Given the description of an element on the screen output the (x, y) to click on. 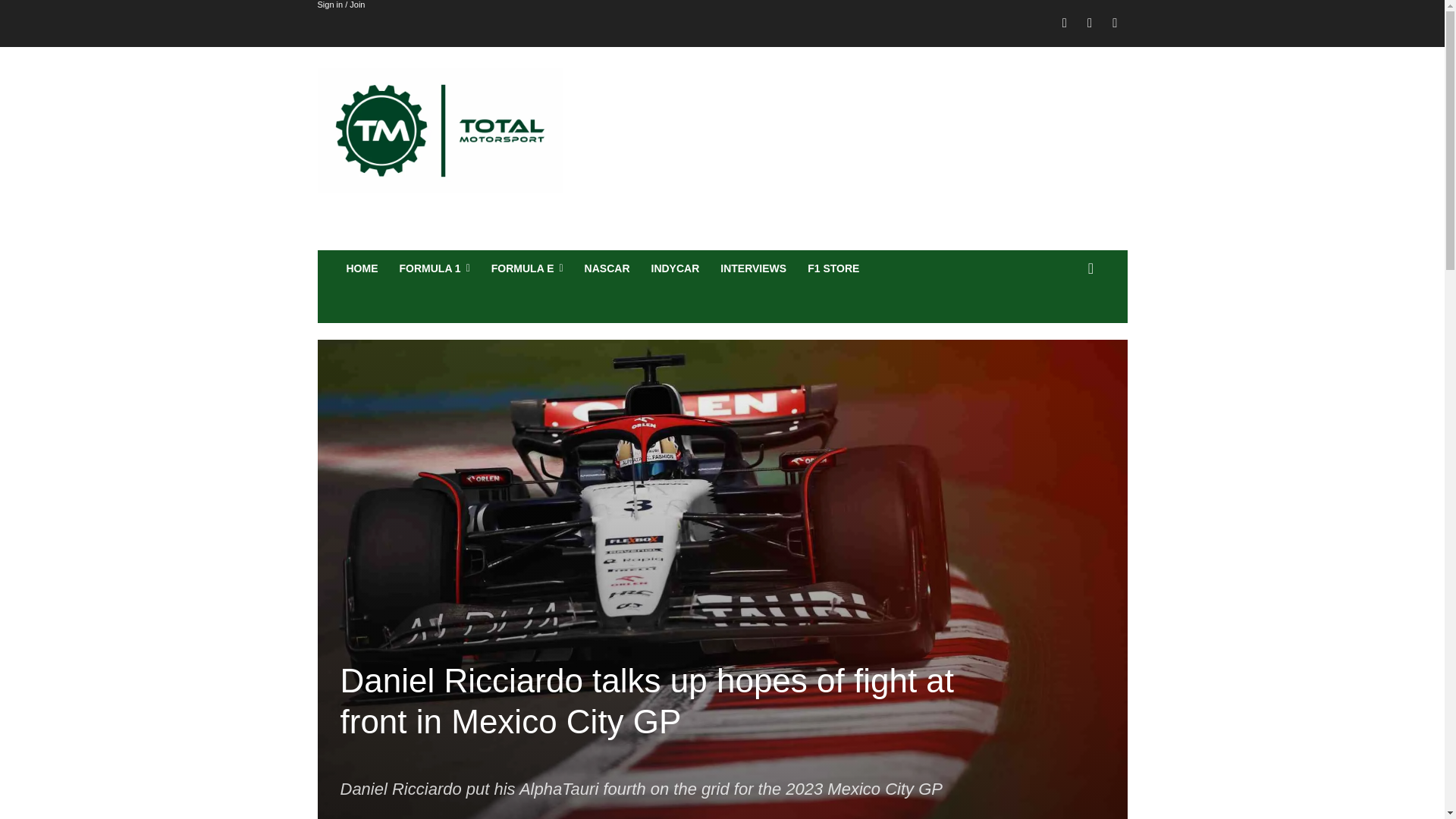
Instagram (1089, 23)
INDYCAR (675, 268)
Facebook (1064, 23)
F1 STORE (832, 268)
FORMULA E (526, 268)
Twitter (1114, 23)
HOME (361, 268)
FORMULA 1 (434, 268)
NASCAR (606, 268)
